Given the description of an element on the screen output the (x, y) to click on. 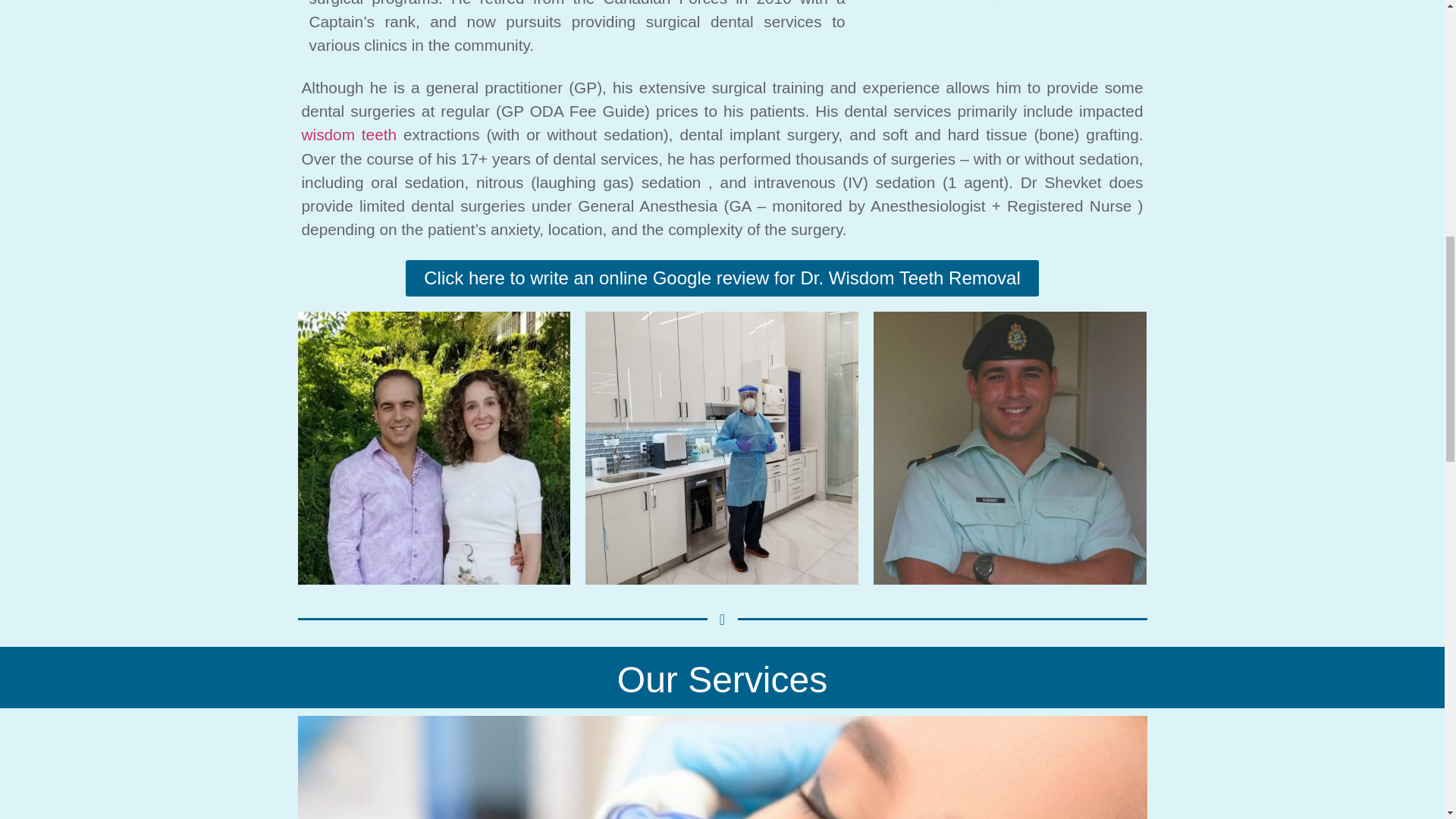
Heather and Gokhan (433, 448)
wisdom teeth (349, 134)
